Given the description of an element on the screen output the (x, y) to click on. 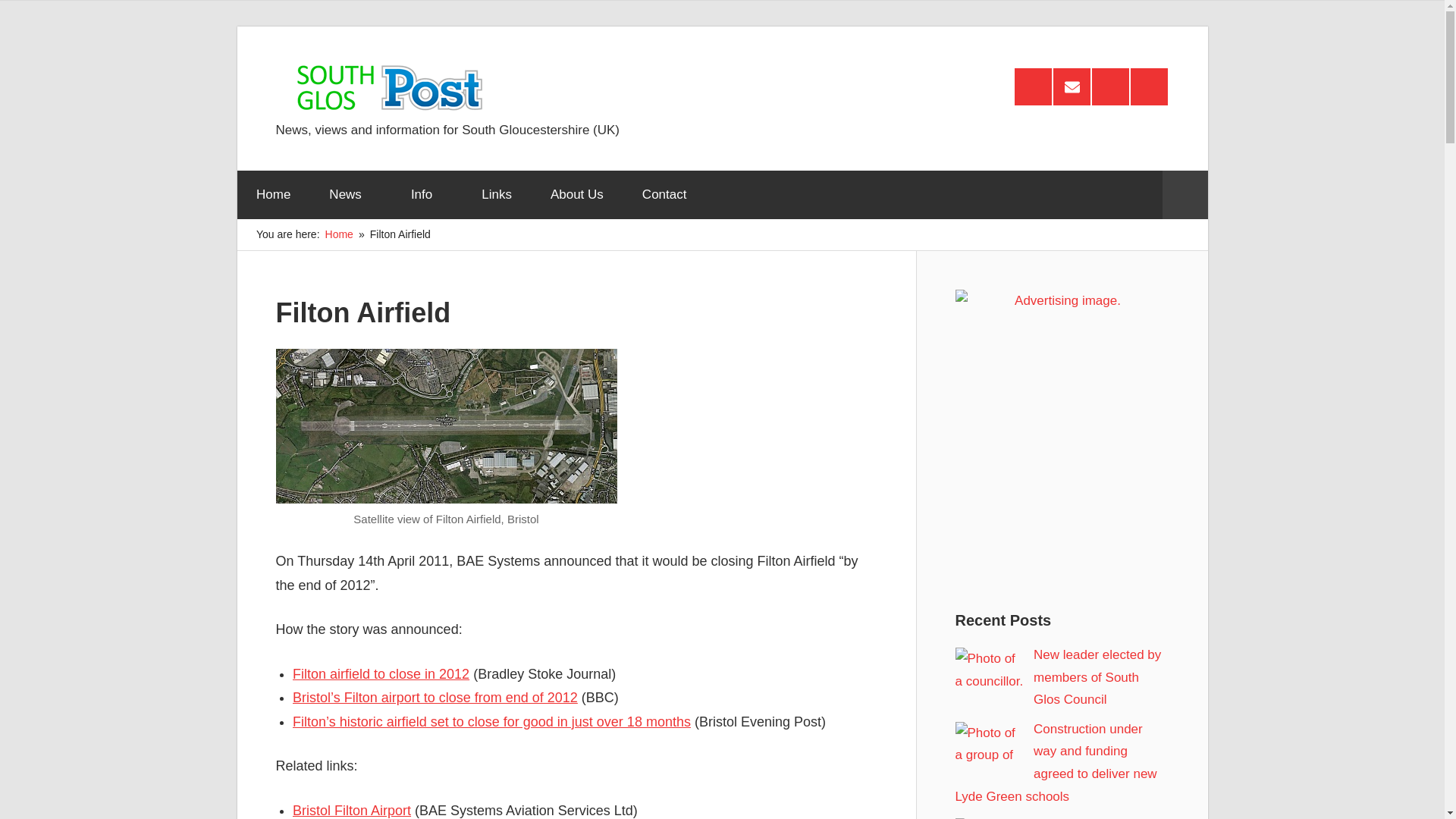
News (350, 194)
South Glos Post on Facebook (1110, 86)
South Glos Post on Twitter (1149, 86)
Satellite view of Filton Airfield, Bristol (446, 425)
Feed (1032, 86)
New leader elected by members of South Glos Council (1096, 677)
Facebook (1110, 86)
Home (271, 194)
Info (426, 194)
Twitter (1149, 86)
Subscribe by Email (1071, 86)
Get the South Glos Post delivered by email (1071, 86)
RSS news feed of the South Glos Post (1032, 86)
